Given the description of an element on the screen output the (x, y) to click on. 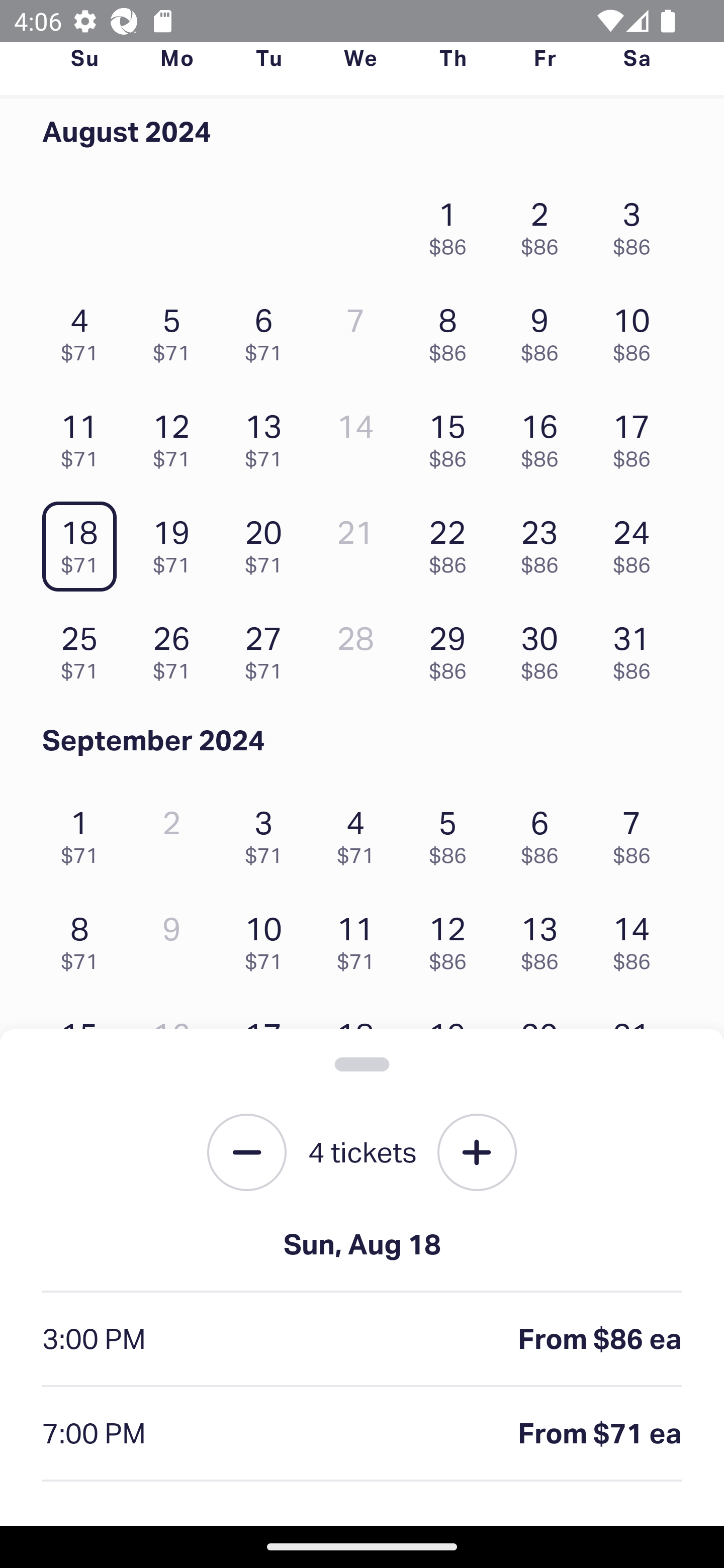
1 $86 (452, 223)
2 $86 (544, 223)
3 $86 (636, 223)
4 $71 (84, 329)
5 $71 (176, 329)
6 $71 (268, 329)
8 $86 (452, 329)
9 $86 (544, 329)
10 $86 (636, 329)
11 $71 (84, 435)
12 $71 (176, 435)
13 $71 (268, 435)
15 $86 (452, 435)
16 $86 (544, 435)
17 $86 (636, 435)
18 $71 (84, 541)
19 $71 (176, 541)
20 $71 (268, 541)
22 $86 (452, 541)
23 $86 (544, 541)
24 $86 (636, 541)
25 $71 (84, 647)
26 $71 (176, 647)
27 $71 (268, 647)
29 $86 (452, 647)
30 $86 (544, 647)
31 $86 (636, 647)
1 $71 (84, 831)
3 $71 (268, 831)
4 $71 (360, 831)
5 $86 (452, 831)
6 $86 (544, 831)
7 $86 (636, 831)
8 $71 (84, 938)
10 $71 (268, 938)
11 $71 (360, 938)
12 $86 (452, 938)
13 $86 (544, 938)
14 $86 (636, 938)
3:00 PM From $86 ea (361, 1339)
7:00 PM From $71 ea (361, 1434)
